Given the description of an element on the screen output the (x, y) to click on. 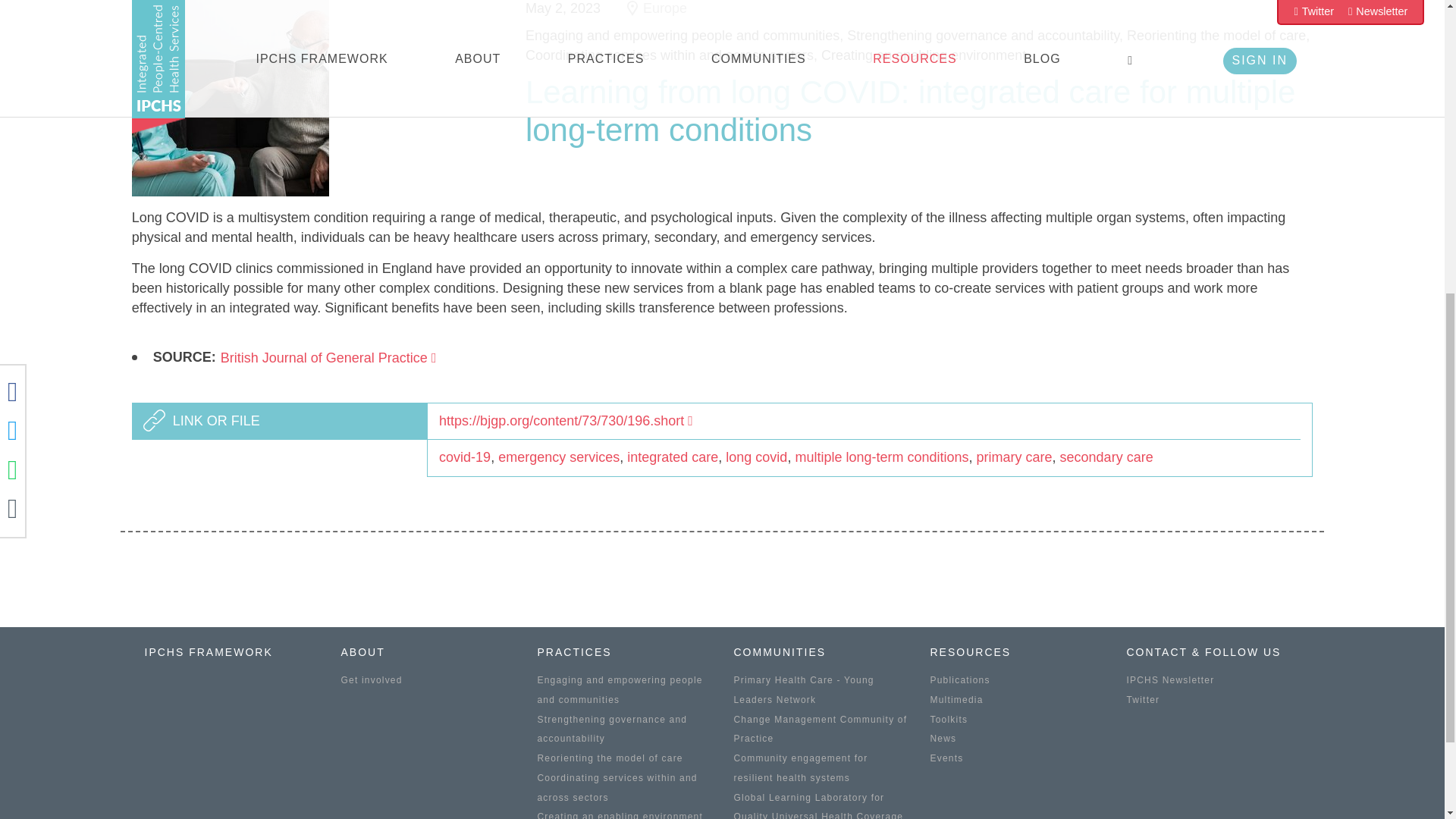
PRACTICES (574, 652)
multiple long-term conditions (881, 457)
Get involved (371, 679)
primary care (1014, 457)
Reorienting the model of care, (1217, 35)
Get involved (371, 679)
secondary care (1106, 457)
long covid (756, 457)
British Journal of General Practice (328, 357)
Creating an enabling environment (923, 55)
